Given the description of an element on the screen output the (x, y) to click on. 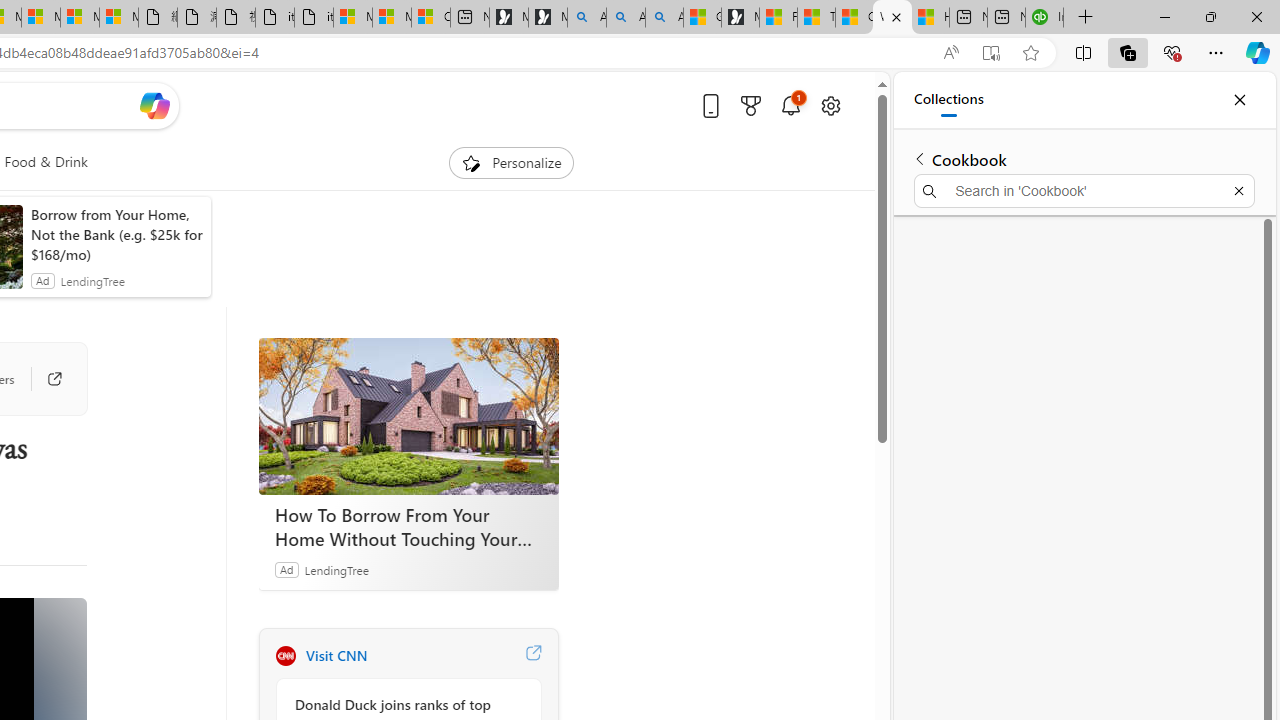
Alabama high school quarterback dies - Search (586, 17)
Go to publisher's site (44, 378)
Exit search (1238, 190)
Back to list of collections (920, 158)
Food and Drink - MSN (778, 17)
